Given the description of an element on the screen output the (x, y) to click on. 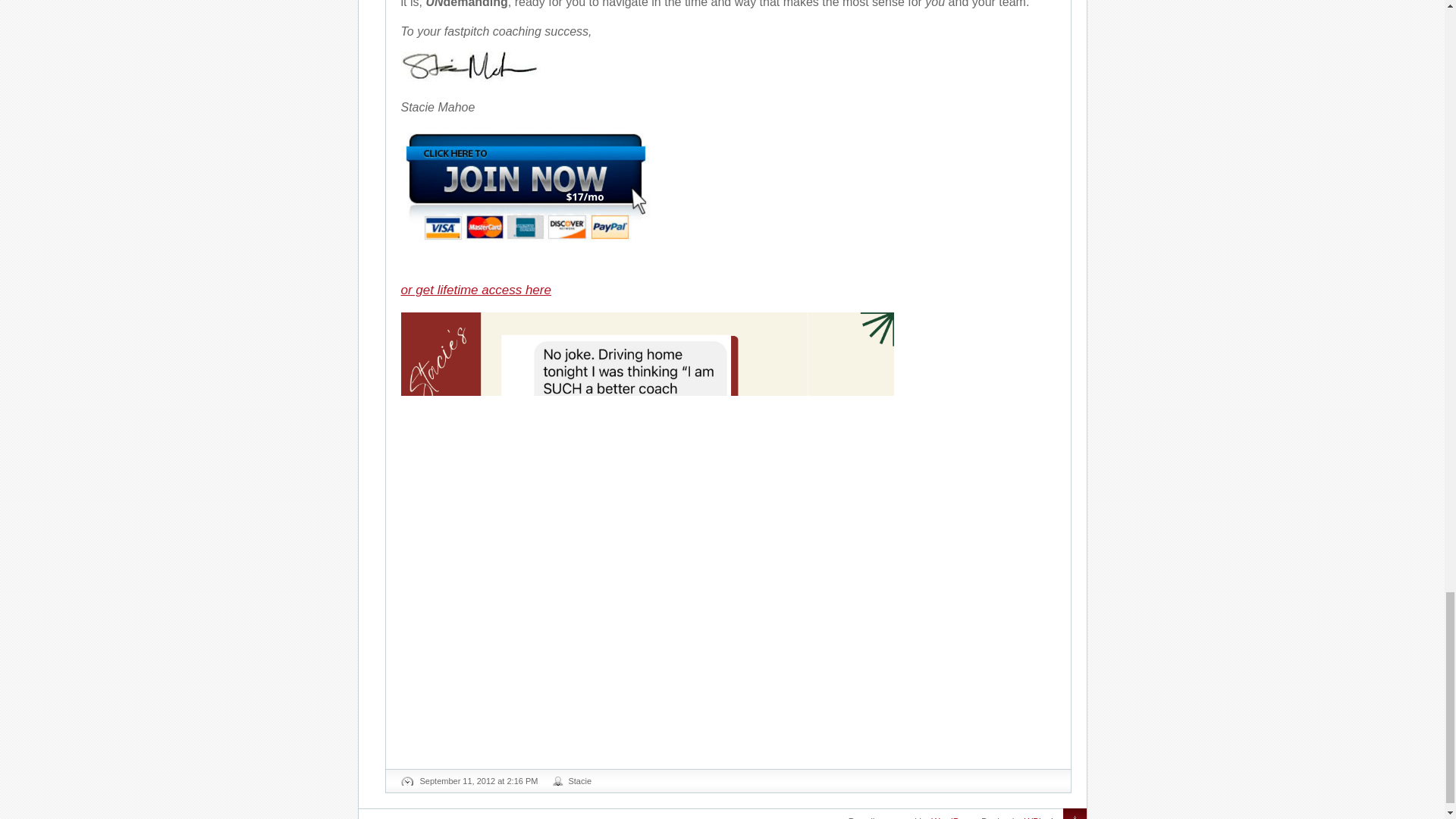
Permalink to Become a Member (479, 780)
Stacie (579, 780)
September 11, 2012 at 2:16 PM (479, 780)
or get lifetime access here (475, 289)
